Given the description of an element on the screen output the (x, y) to click on. 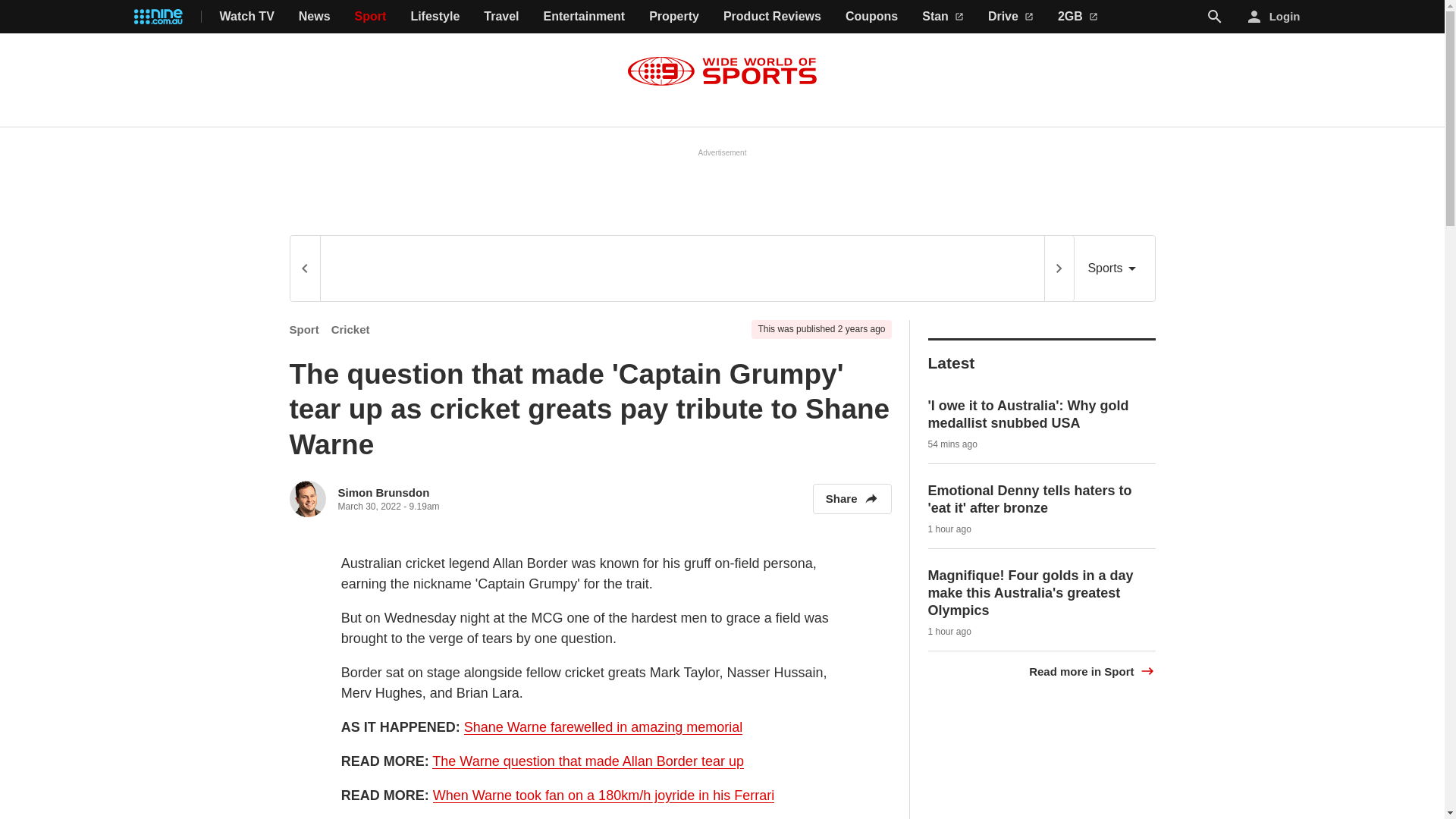
2GB (1077, 16)
'I owe it to Australia': Why gold medallist snubbed USA (1028, 414)
Stan (942, 16)
Drive (1010, 16)
The Warne question that made Allan Border tear up (588, 761)
Entertainment (584, 16)
Travel (500, 16)
Sport (303, 328)
News (314, 16)
Property (673, 16)
